Given the description of an element on the screen output the (x, y) to click on. 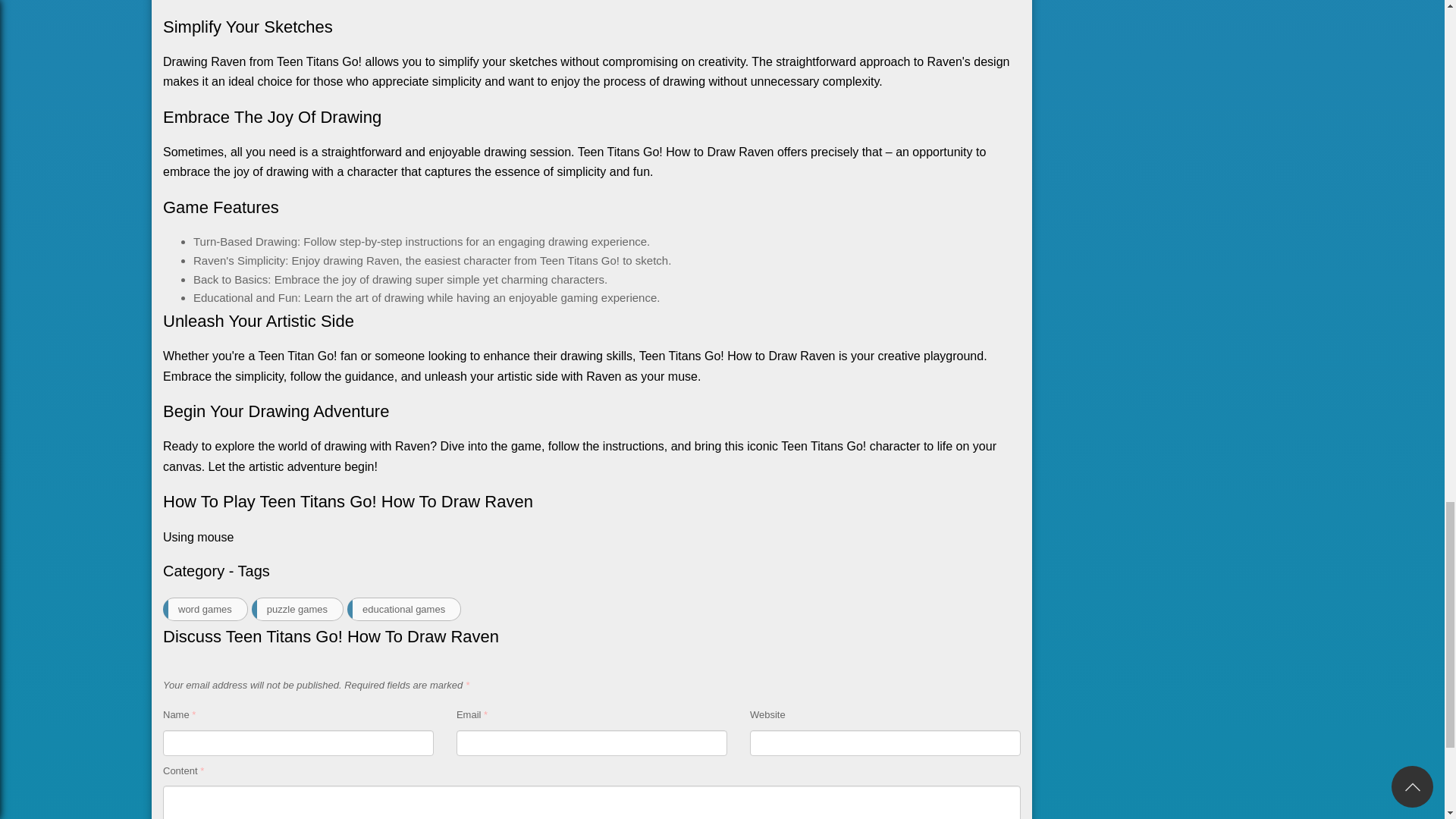
puzzle games (297, 608)
educational games (404, 608)
word games (205, 608)
